Given the description of an element on the screen output the (x, y) to click on. 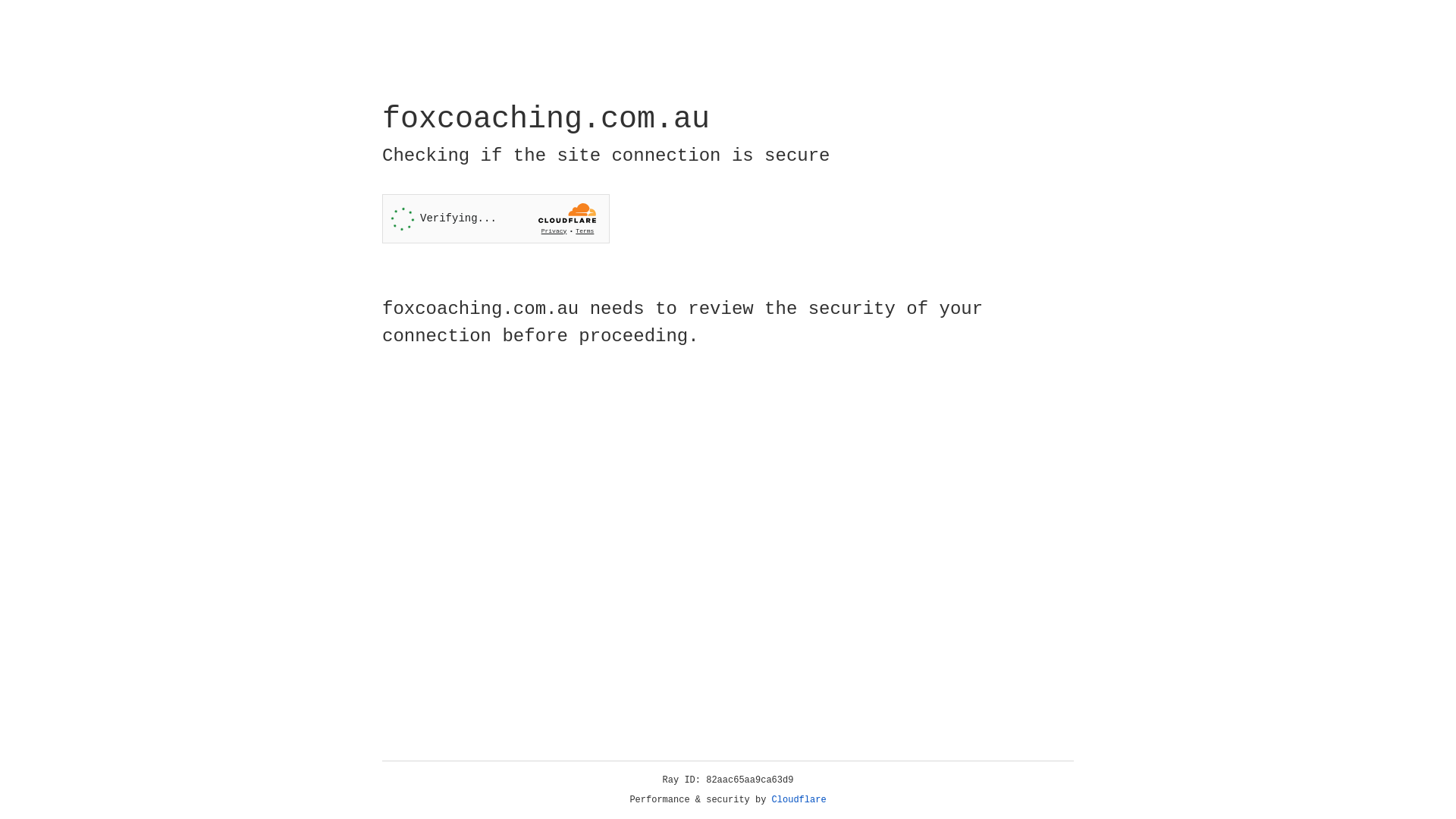
Widget containing a Cloudflare security challenge Element type: hover (495, 218)
Cloudflare Element type: text (798, 799)
